Given the description of an element on the screen output the (x, y) to click on. 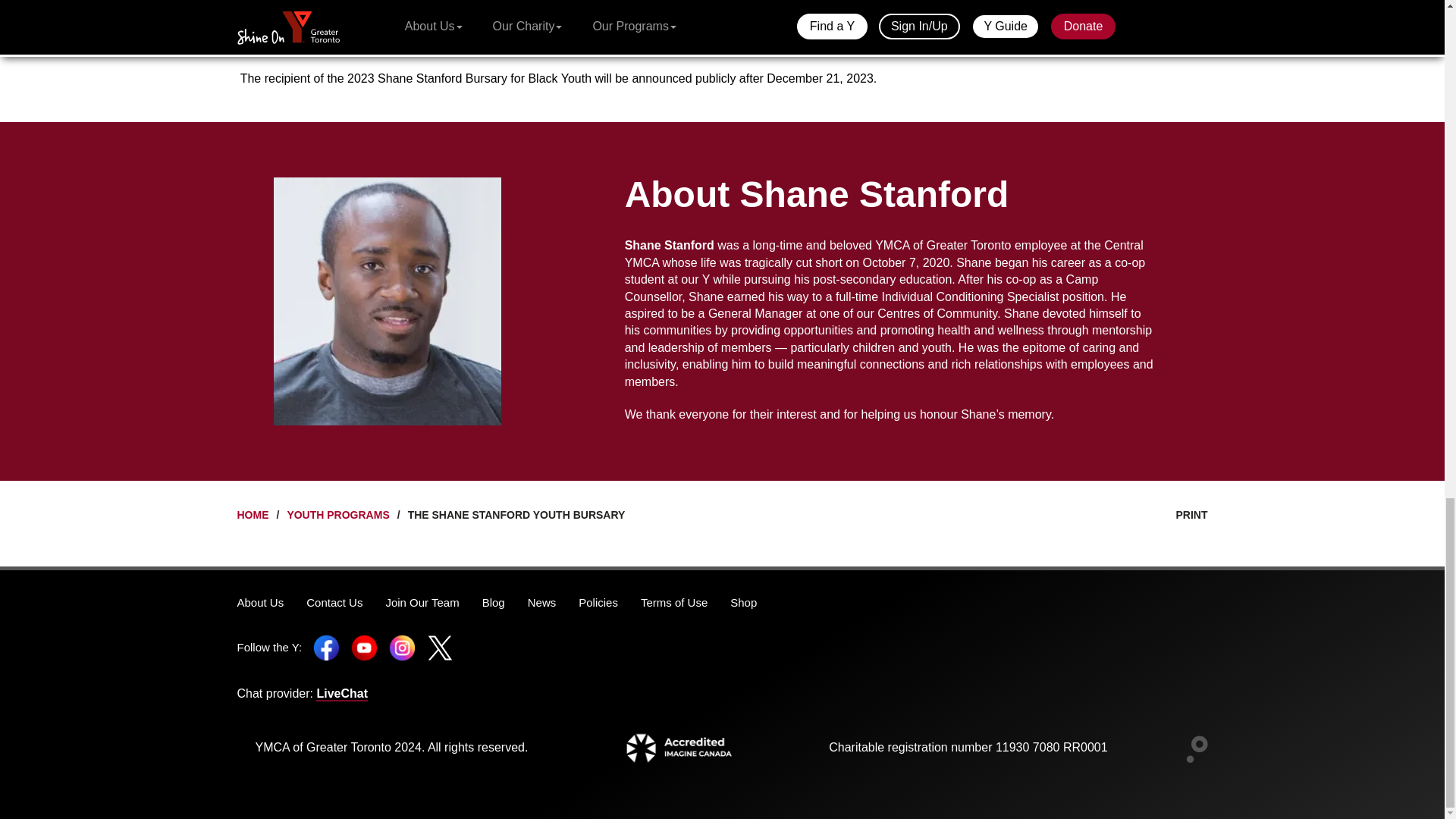
YMCA GTA on Facebook (326, 645)
YMCA GTA on X (439, 645)
YMCA GTA on YT (363, 645)
YMCA GTA on Instagram (401, 645)
